Given the description of an element on the screen output the (x, y) to click on. 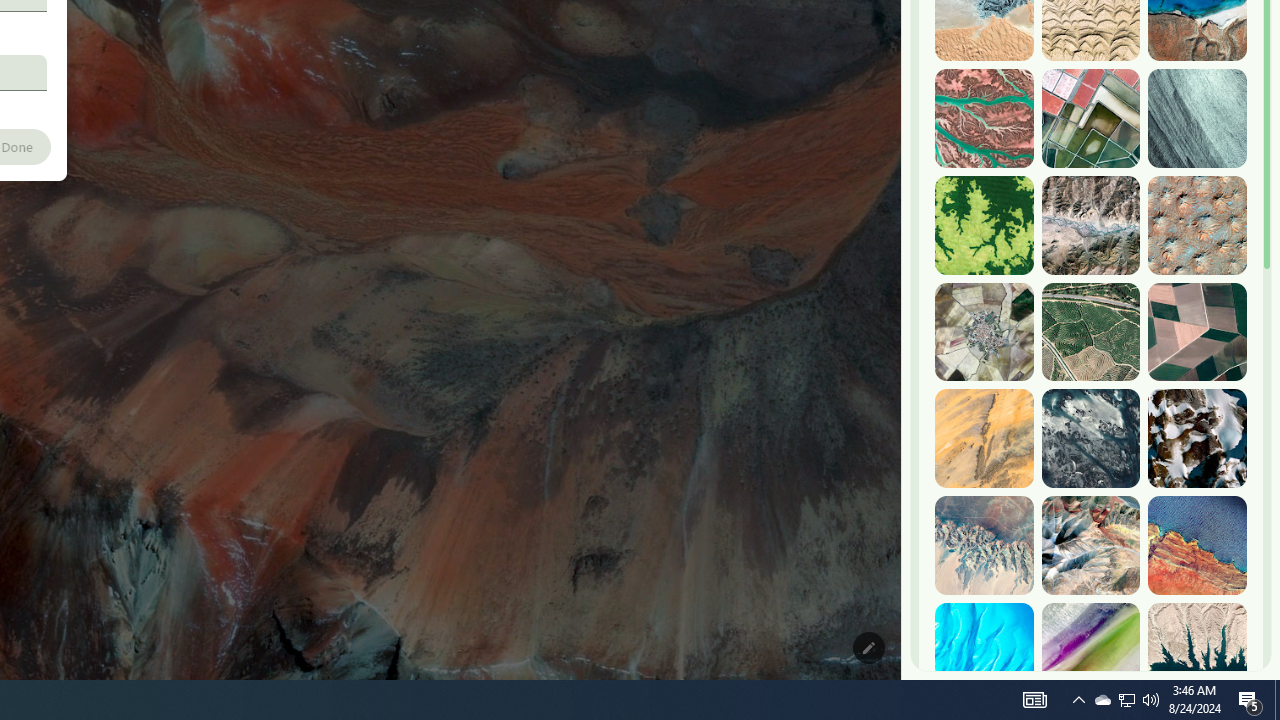
Qesm Al Wahat Ad Dakhlah, Egypt (984, 545)
Rikaze, China (1090, 225)
Davis County, United States (1090, 651)
Granville, France (1090, 438)
South Eleuthera, The Bahamas (984, 651)
